Given the description of an element on the screen output the (x, y) to click on. 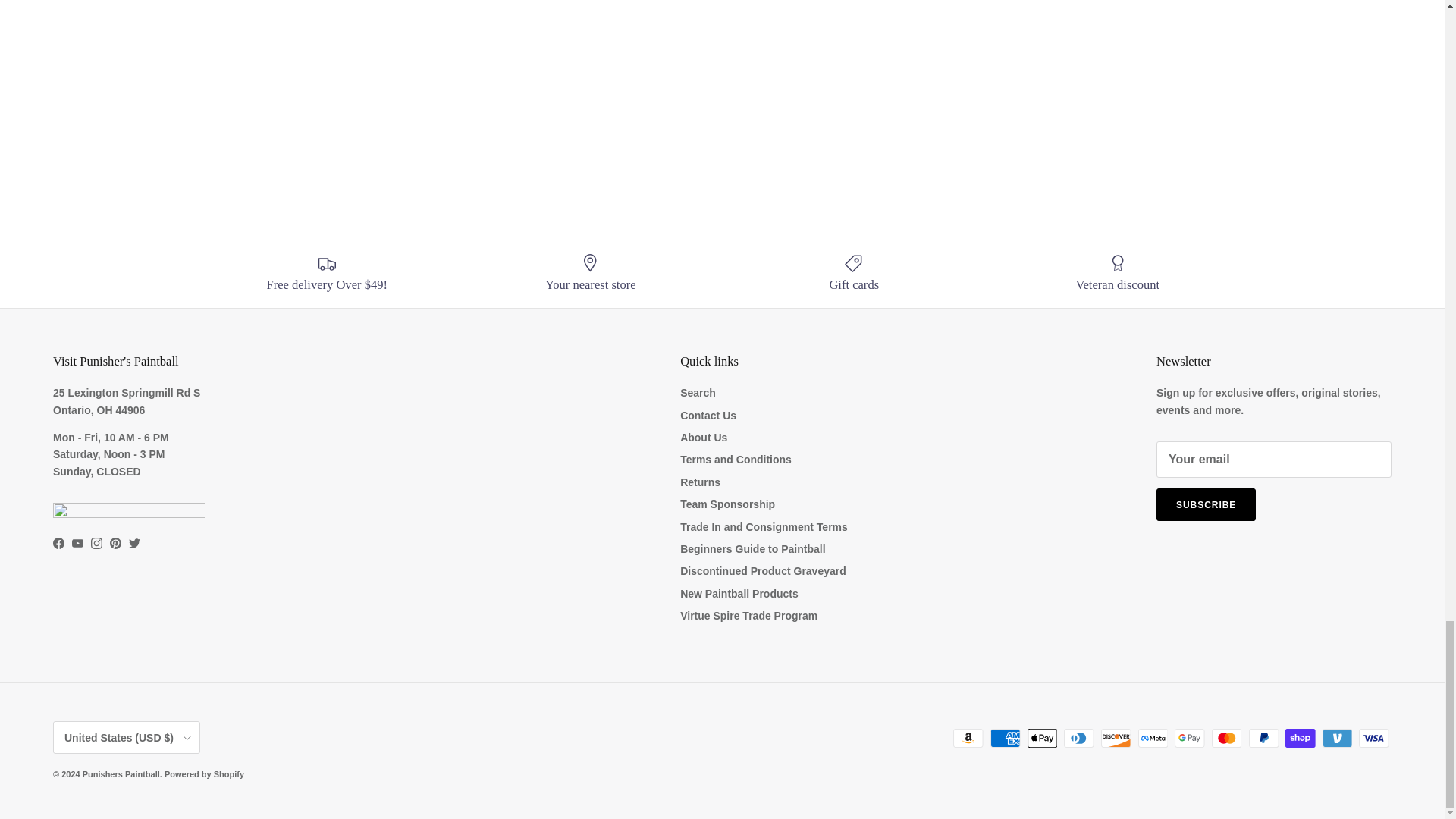
Amazon (967, 737)
